Given the description of an element on the screen output the (x, y) to click on. 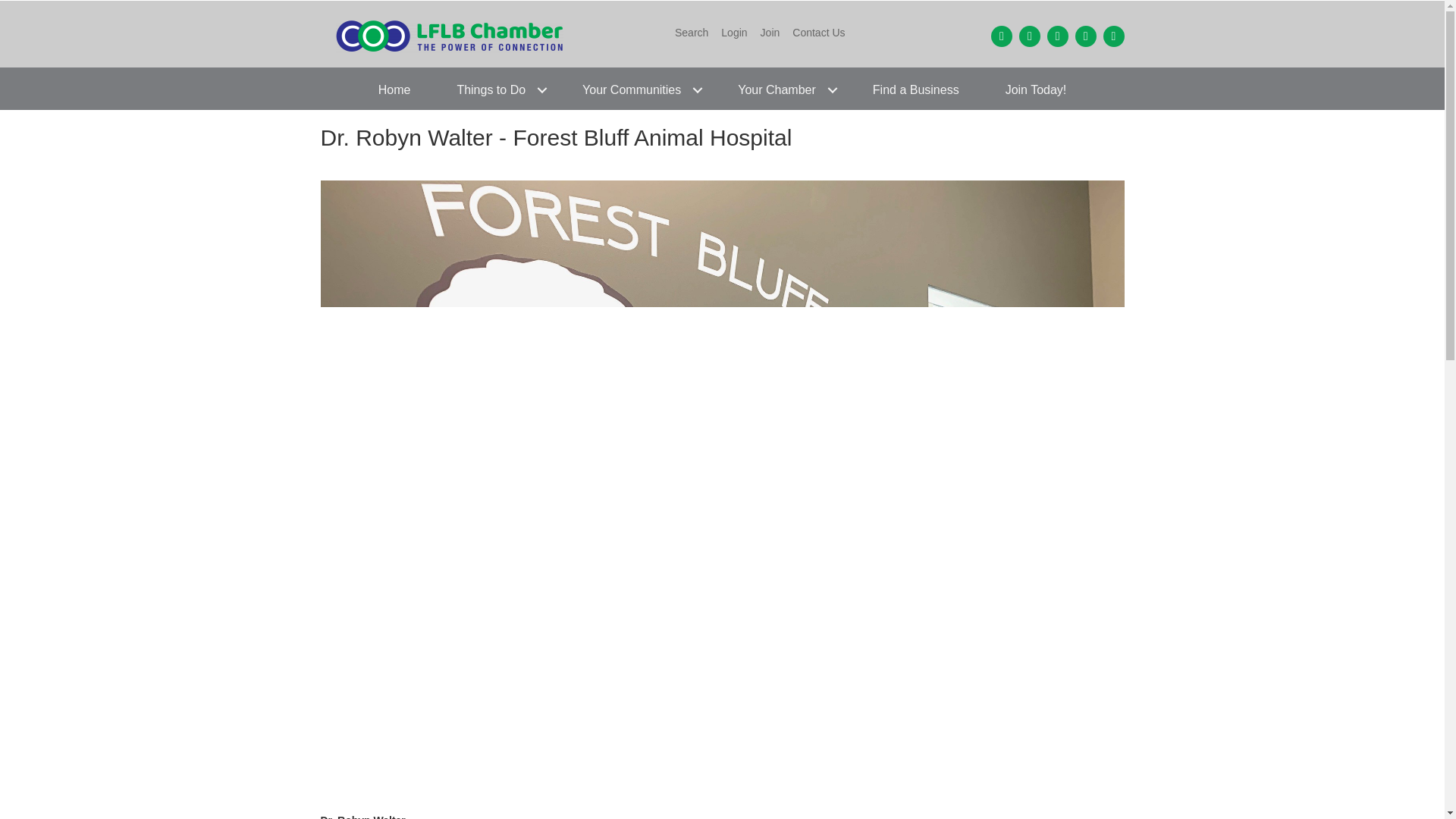
Login (733, 33)
Search (691, 33)
Join (770, 33)
Things to Do (496, 90)
Your Communities (636, 90)
Home (394, 90)
Contact Us (818, 33)
